Given the description of an element on the screen output the (x, y) to click on. 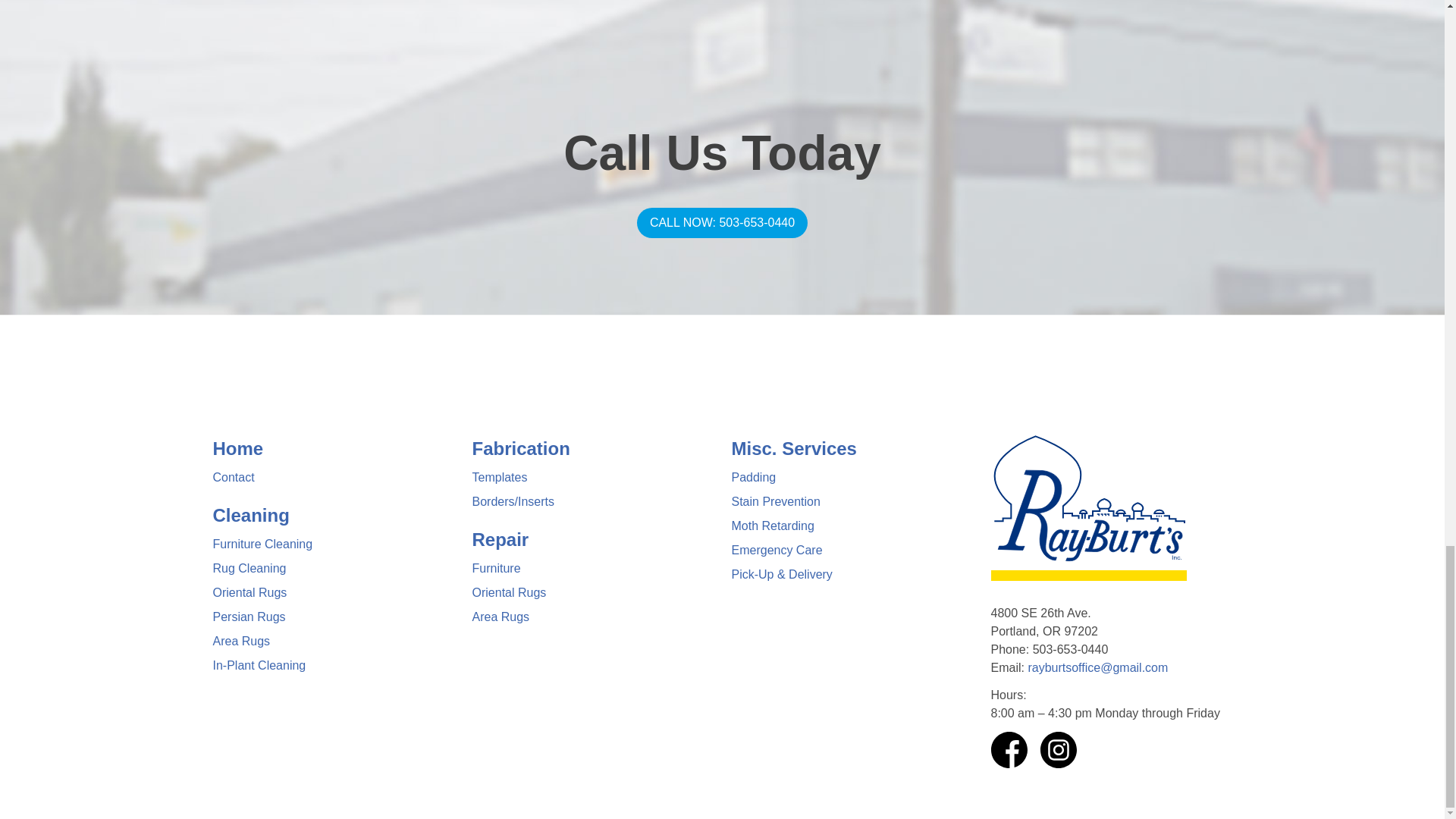
Templates (499, 477)
Contact (232, 477)
Rug Cleaning (248, 567)
Home (237, 448)
Furniture Cleaning (262, 543)
Oriental Rugs (249, 592)
Fabrication (520, 448)
Area Rugs (240, 640)
Persian Rugs (248, 616)
Repair (499, 539)
